Given the description of an element on the screen output the (x, y) to click on. 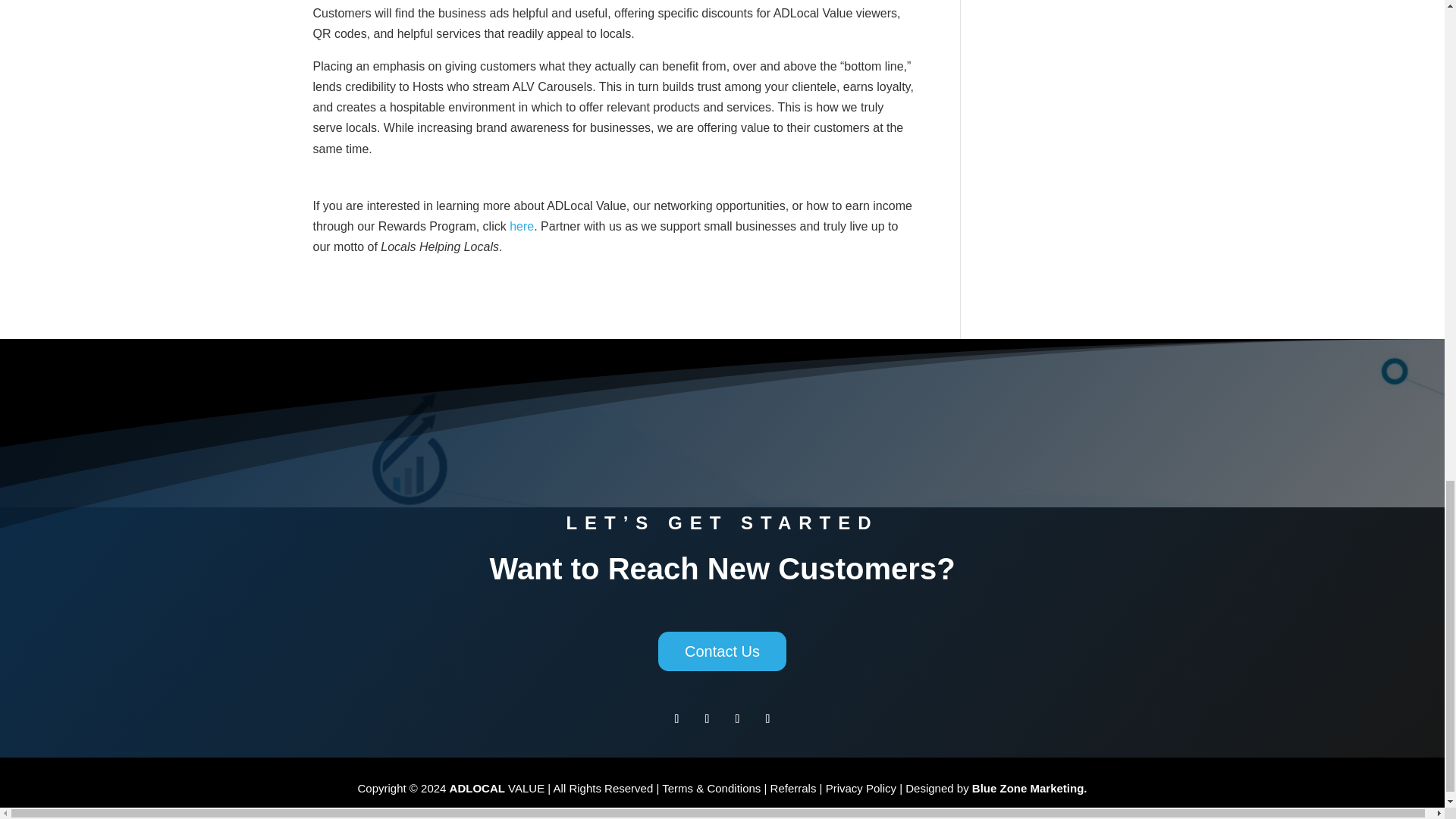
Follow on Instagram (706, 718)
here (521, 226)
Follow on LinkedIn (766, 718)
Follow on X (737, 718)
Follow on Facebook (675, 718)
